Given the description of an element on the screen output the (x, y) to click on. 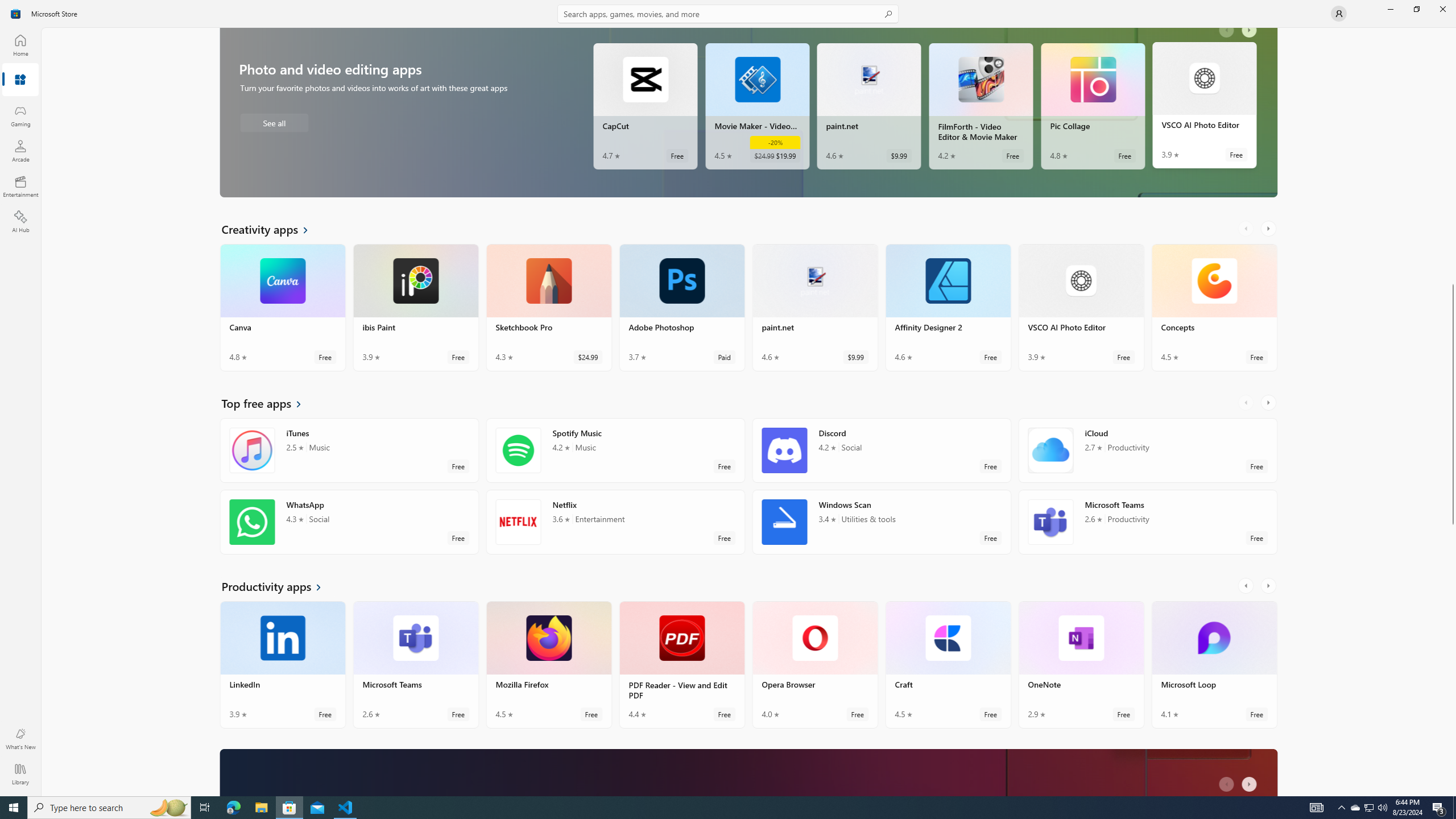
See all  Top free apps (268, 407)
Canva. Average rating of 4.8 out of five stars. Free   (282, 196)
